Given the description of an element on the screen output the (x, y) to click on. 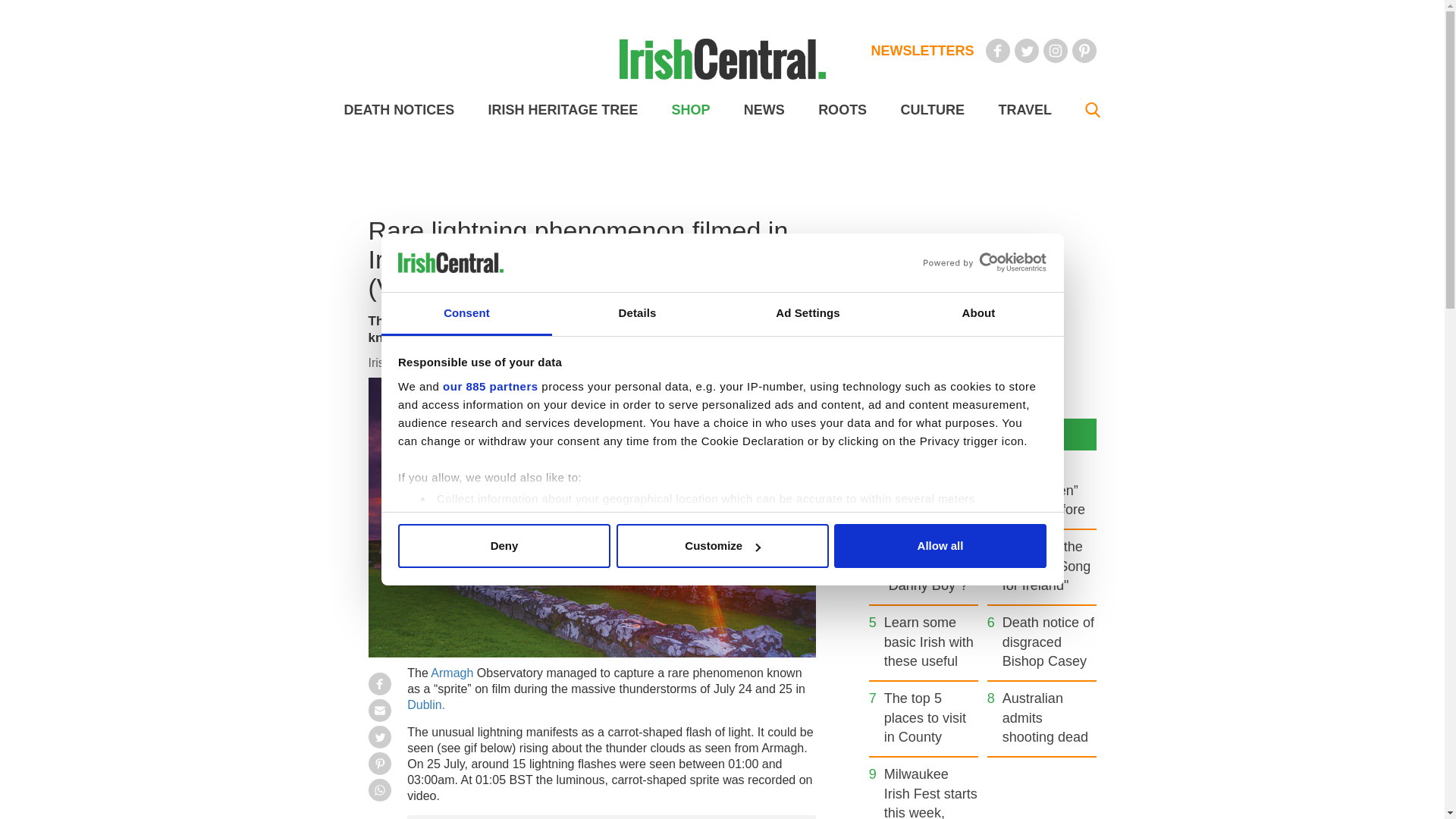
our 885 partners (490, 386)
Details (636, 313)
details section (927, 536)
Ad Settings (807, 313)
About (978, 313)
Consent (465, 313)
